Given the description of an element on the screen output the (x, y) to click on. 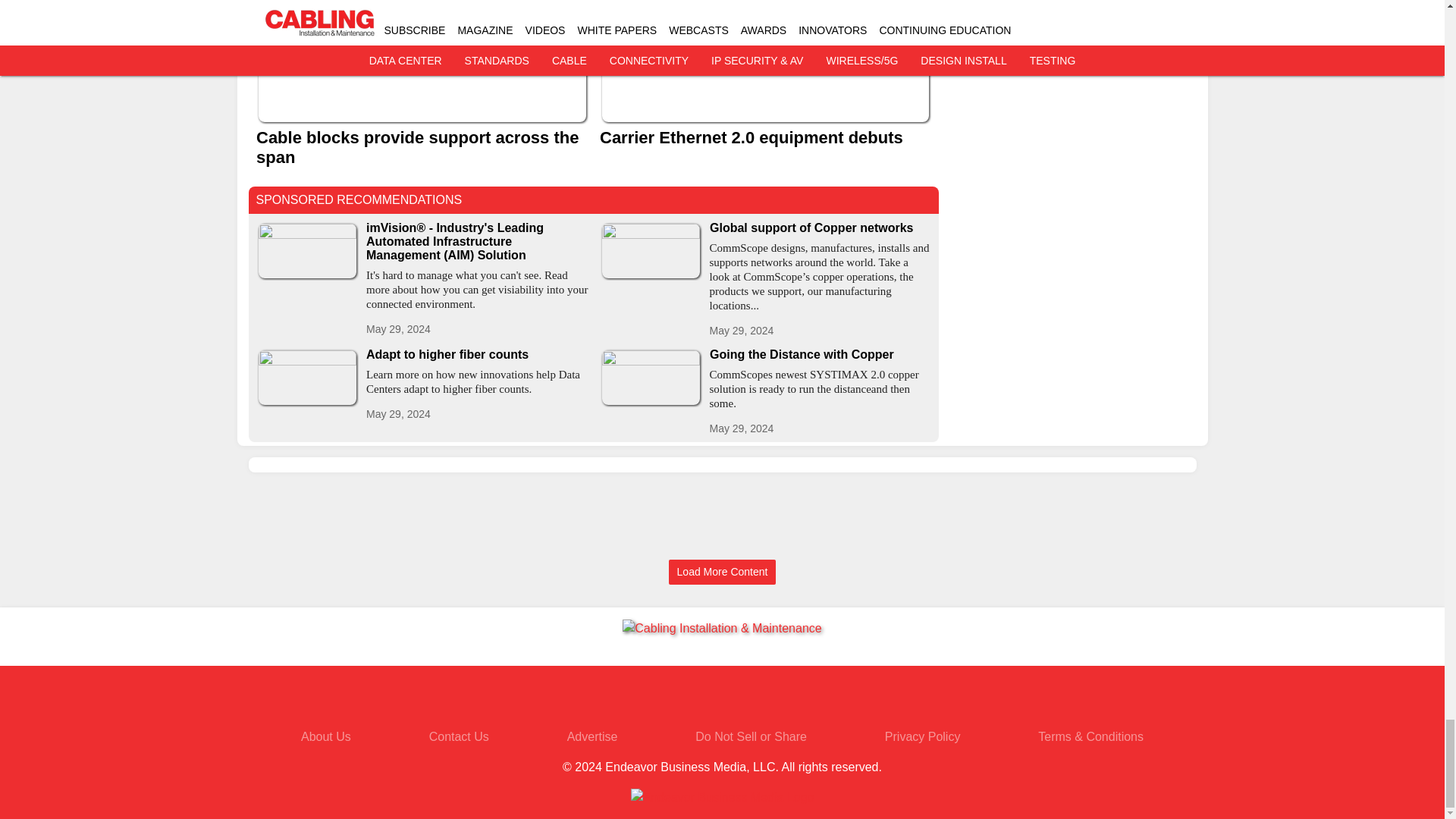
Going the Distance with Copper (820, 354)
Adapt to higher fiber counts (476, 354)
Global support of Copper networks (820, 228)
Cable blocks provide support across the span (422, 147)
Carrier Ethernet 2.0 equipment debuts (764, 137)
